Given the description of an element on the screen output the (x, y) to click on. 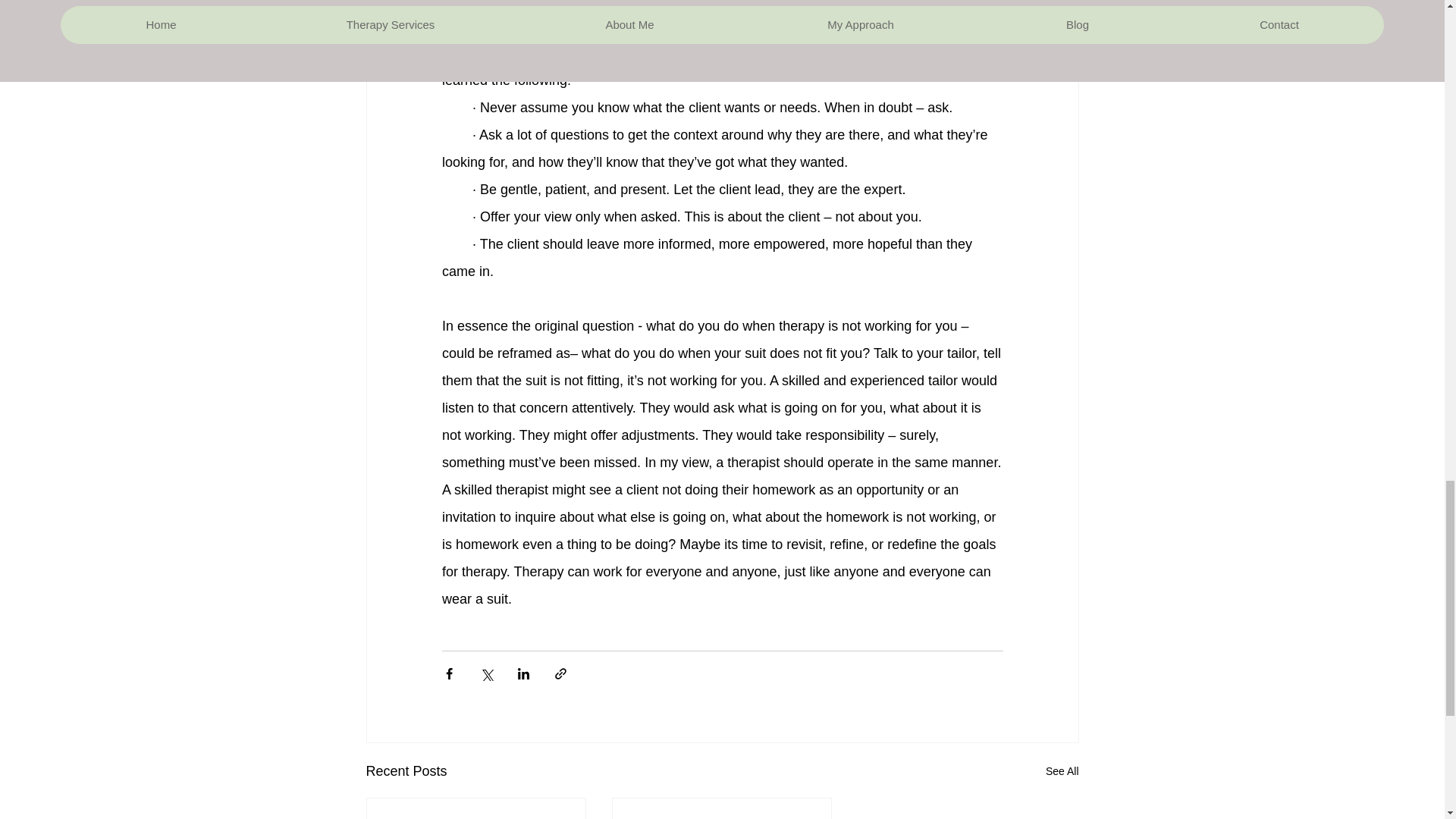
See All (1061, 771)
